Given the description of an element on the screen output the (x, y) to click on. 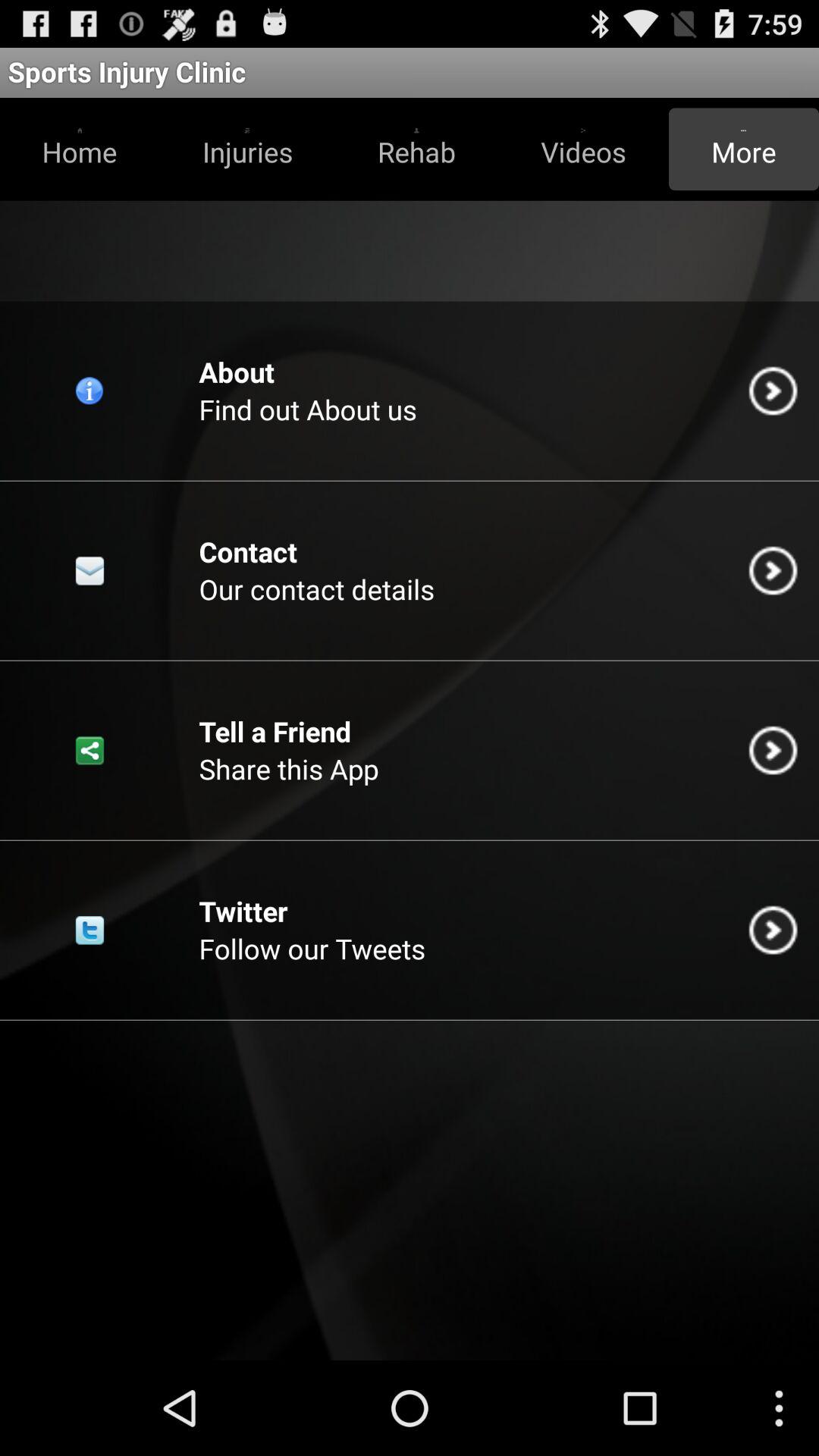
open app next to the follow our tweets (773, 929)
